Given the description of an element on the screen output the (x, y) to click on. 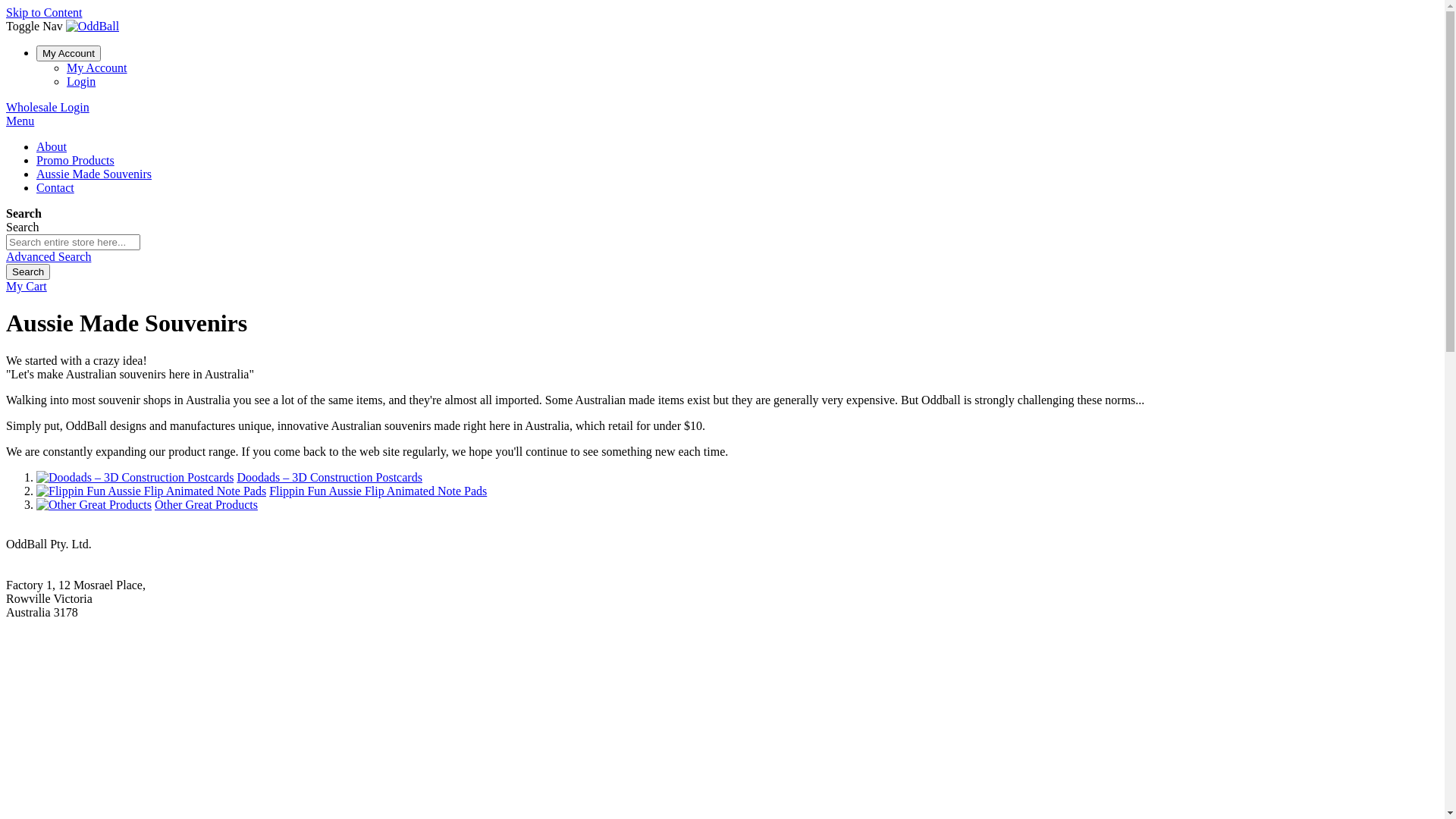
Menu Element type: text (20, 120)
Other Great Products Element type: text (205, 504)
Wholesale Login Element type: text (47, 106)
Promo Products Element type: text (75, 159)
Advanced Search Element type: text (48, 256)
Contact Element type: text (55, 187)
About Element type: text (51, 146)
OddBall Element type: hover (92, 25)
(+613) 9763 3866 Element type: text (50, 557)
My Cart Element type: text (26, 285)
My Account Element type: text (96, 67)
Flippin Fun Aussie Flip Animated Note Pads Element type: text (377, 490)
Skip to Content Element type: text (43, 12)
Login Element type: text (80, 81)
info@oddball.com.au Element type: text (58, 570)
Search Element type: text (28, 271)
Aussie Made Souvenirs Element type: text (93, 173)
My Account Element type: text (68, 53)
